Given the description of an element on the screen output the (x, y) to click on. 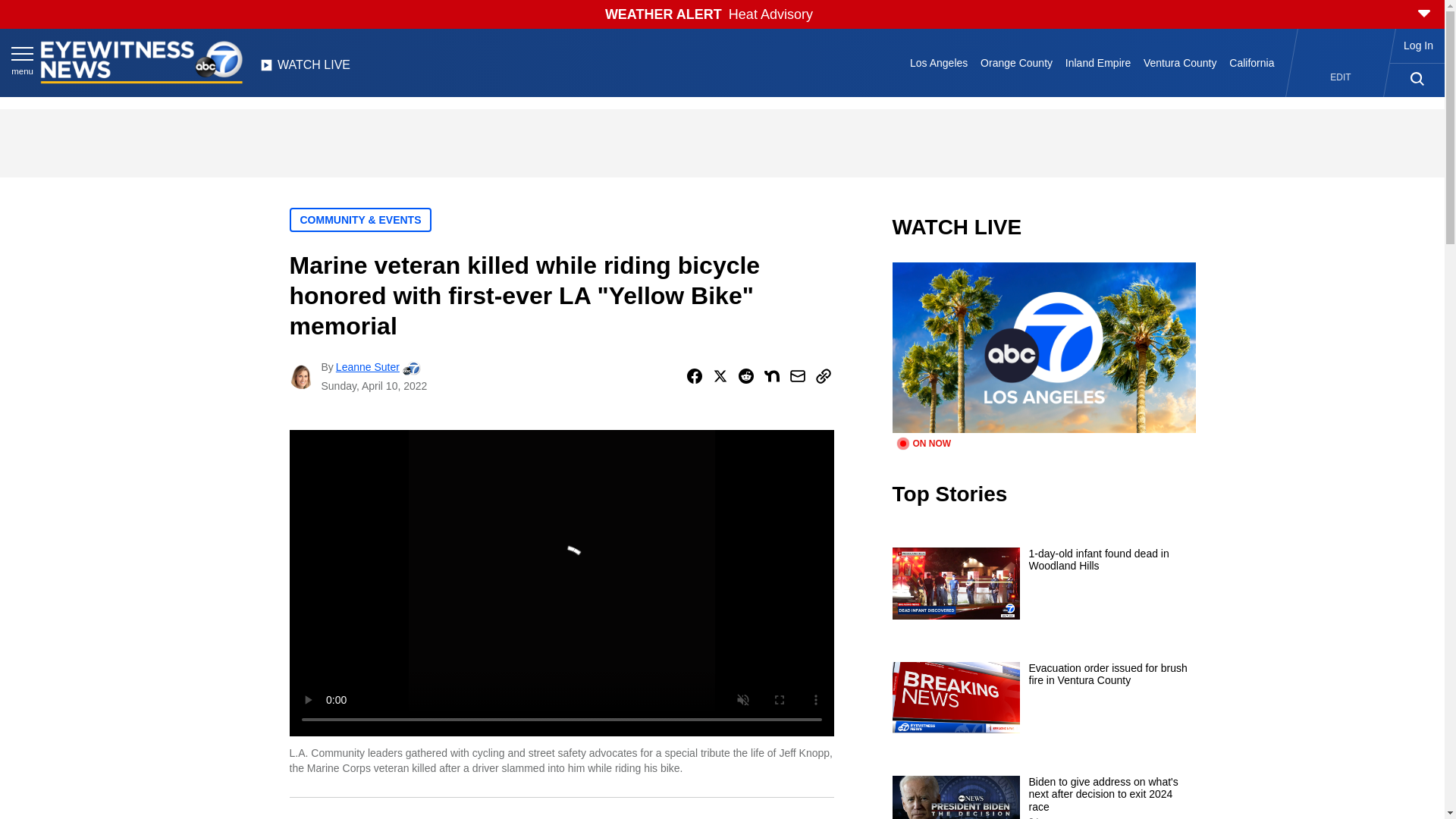
EDIT (1340, 77)
Ventura County (1180, 62)
Inland Empire (1097, 62)
WATCH LIVE (305, 69)
Orange County (1016, 62)
Los Angeles (939, 62)
California (1252, 62)
